Given the description of an element on the screen output the (x, y) to click on. 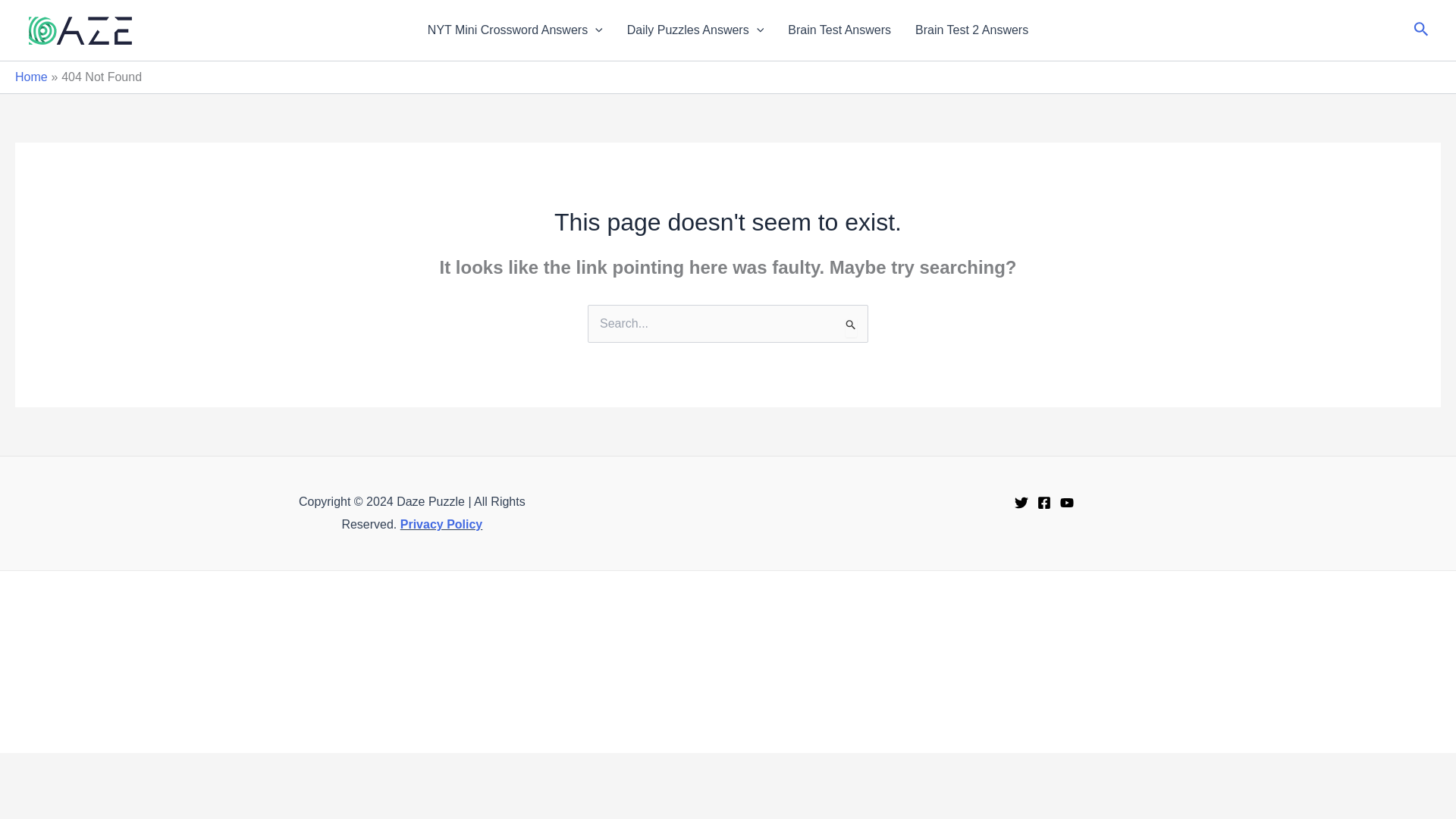
Brain Test 2 Answers (971, 30)
NYT Mini Crossword Answers (514, 30)
Daily Puzzles Answers (695, 30)
Brain Test Answers (839, 30)
